Given the description of an element on the screen output the (x, y) to click on. 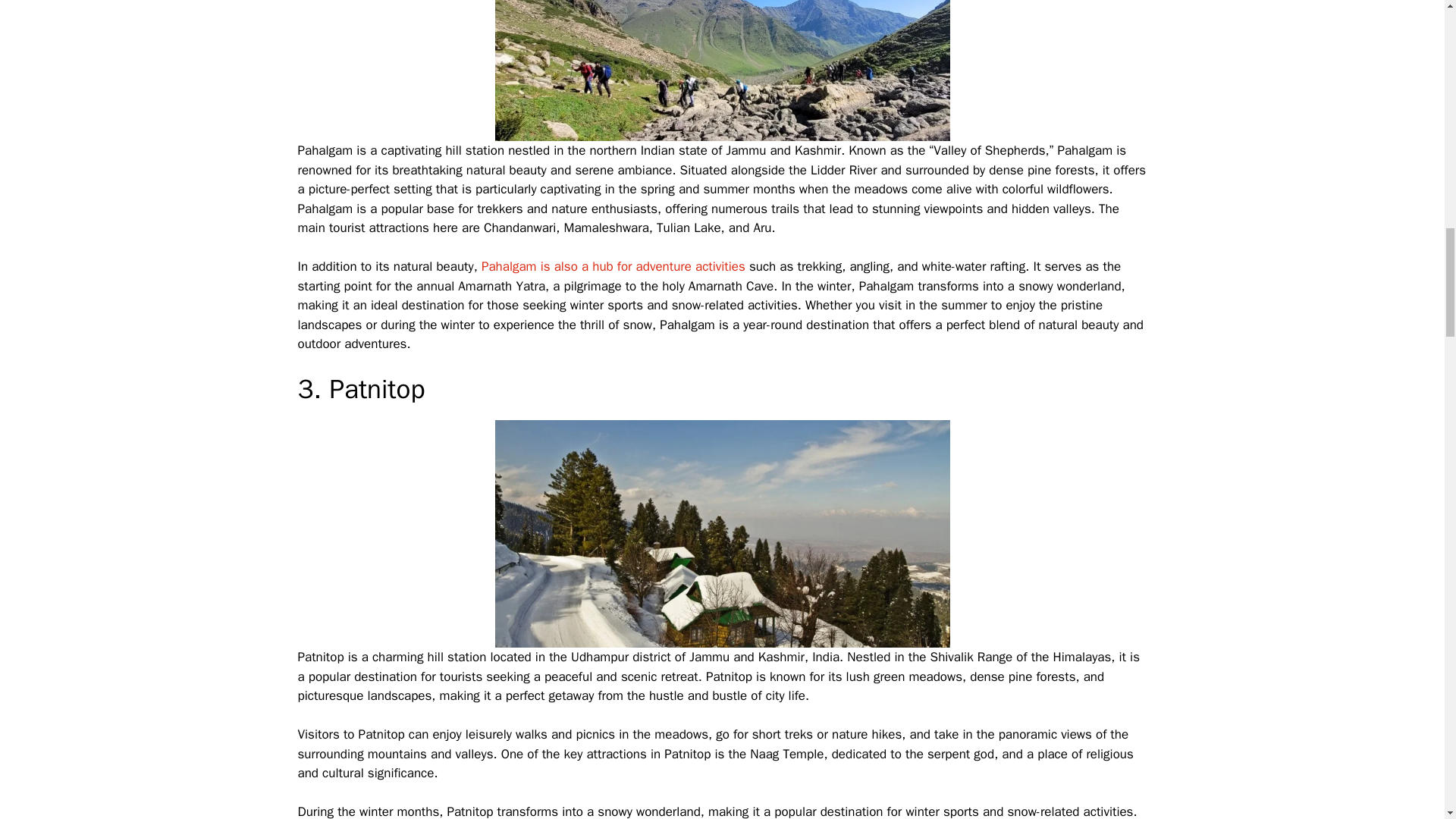
Pahalgam is also a hub for adventure activities (611, 266)
